Given the description of an element on the screen output the (x, y) to click on. 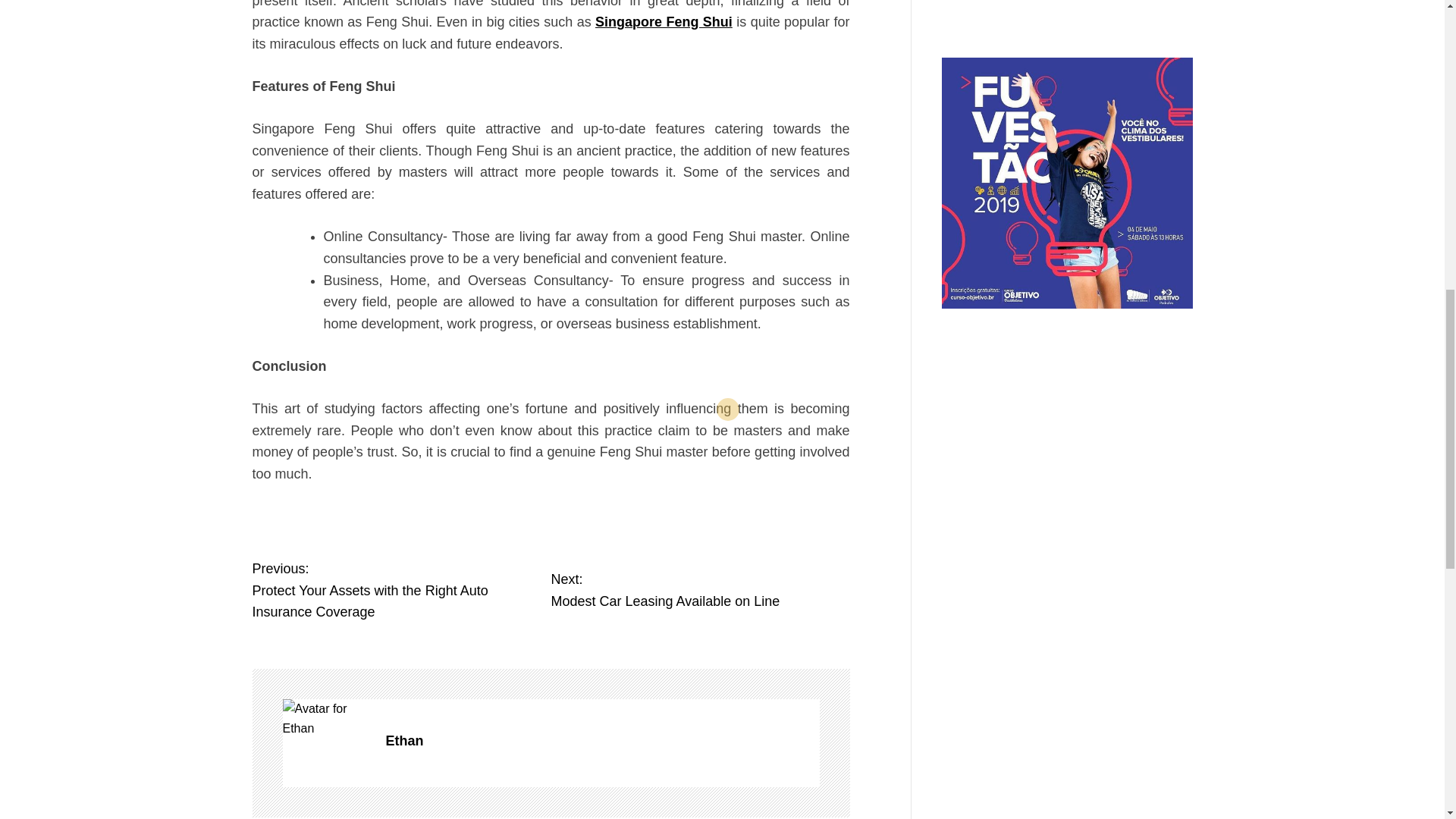
Ethan (601, 741)
Singapore Feng Shui (699, 590)
Ethan (663, 21)
Ethan (601, 741)
